Given the description of an element on the screen output the (x, y) to click on. 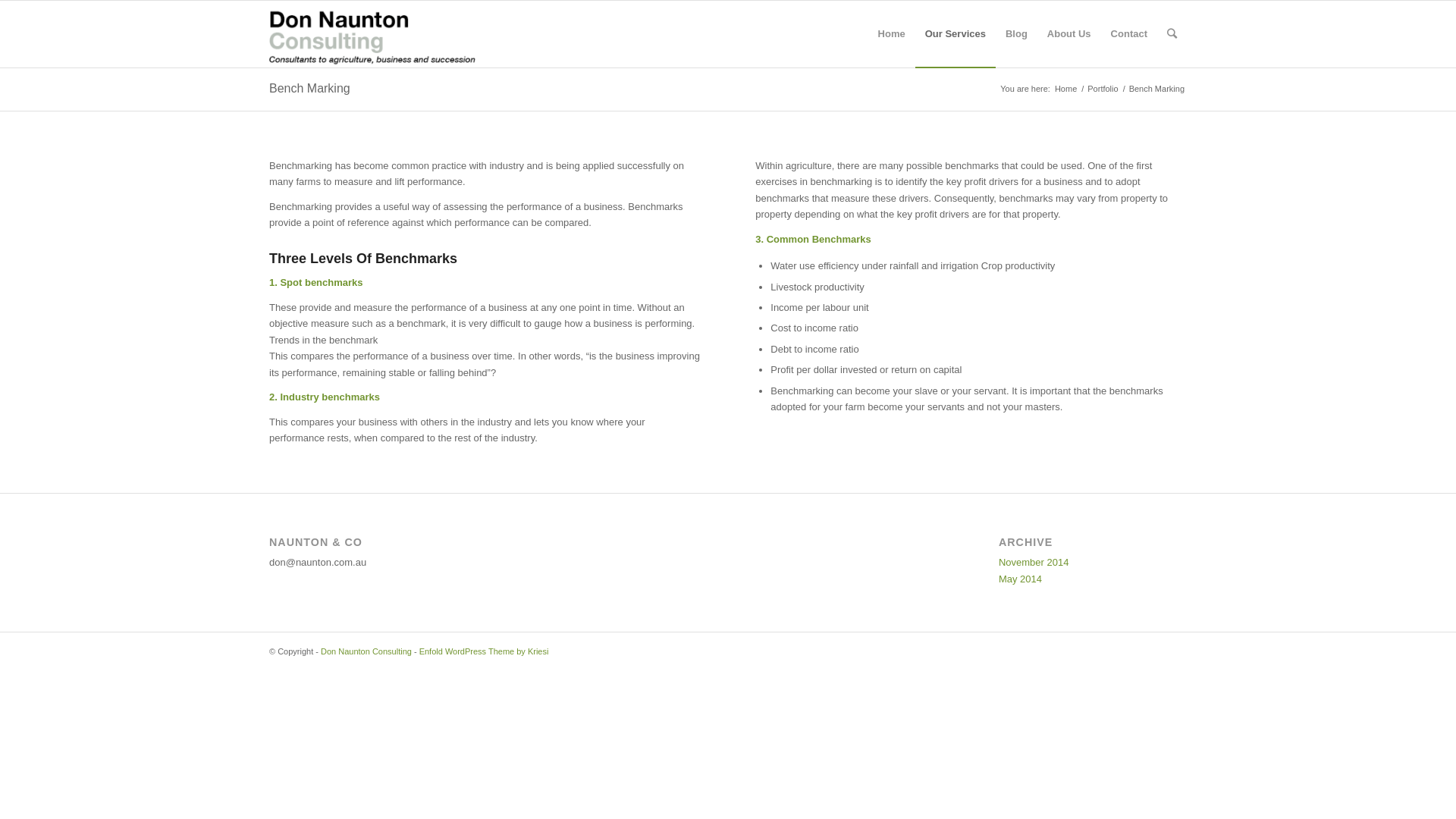
Home Element type: text (891, 33)
November 2014 Element type: text (1033, 561)
Blog Element type: text (1016, 33)
Portfolio Element type: text (1102, 88)
Home Element type: text (1065, 88)
May 2014 Element type: text (1019, 578)
Contact Element type: text (1129, 33)
Don Naunton Consulting Element type: text (365, 650)
Bench Marking Element type: text (309, 87)
Our Services Element type: text (955, 33)
About Us Element type: text (1069, 33)
Enfold WordPress Theme by Kriesi Element type: text (484, 650)
